Given the description of an element on the screen output the (x, y) to click on. 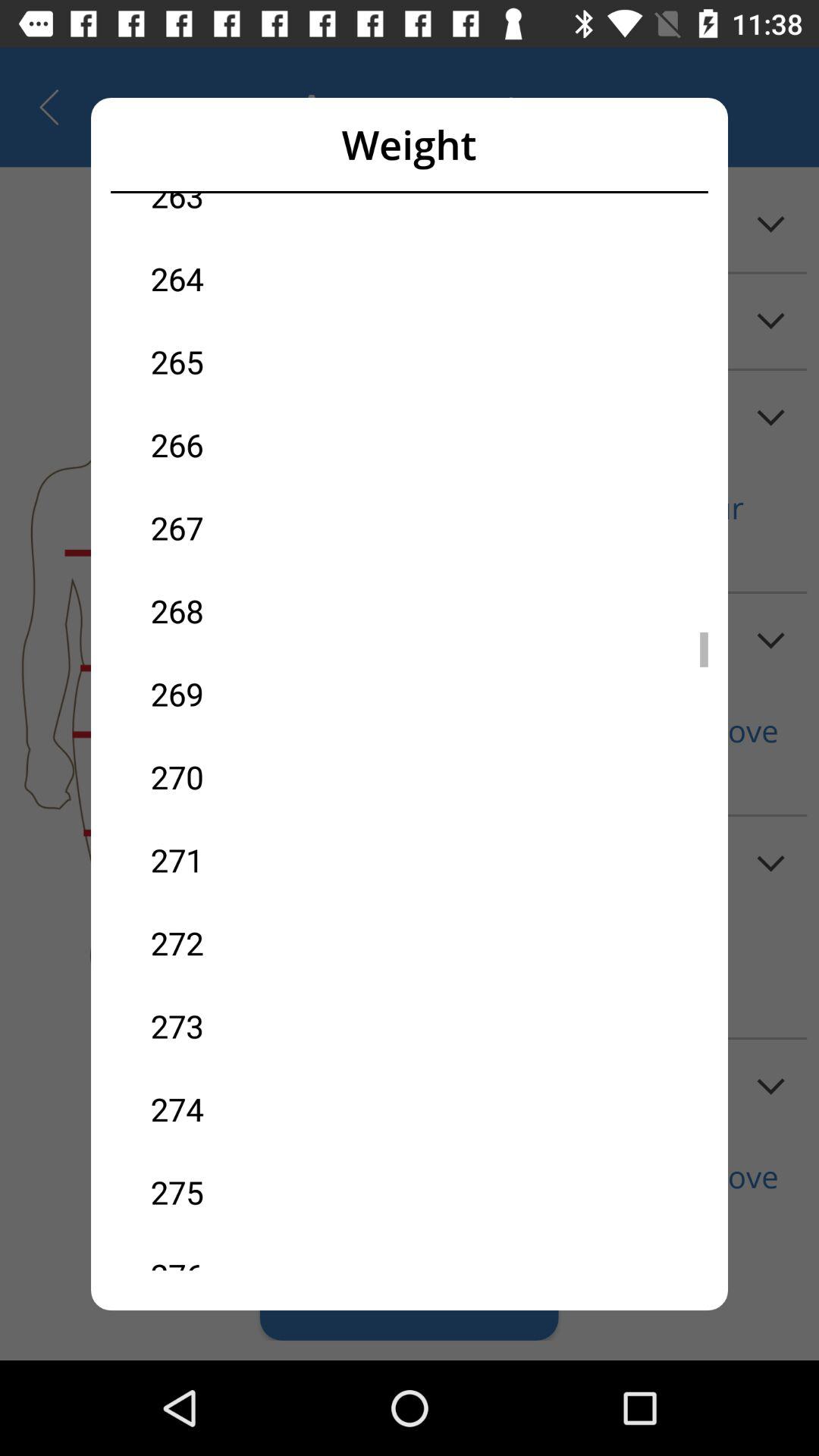
click the icon above the 268 (279, 527)
